Given the description of an element on the screen output the (x, y) to click on. 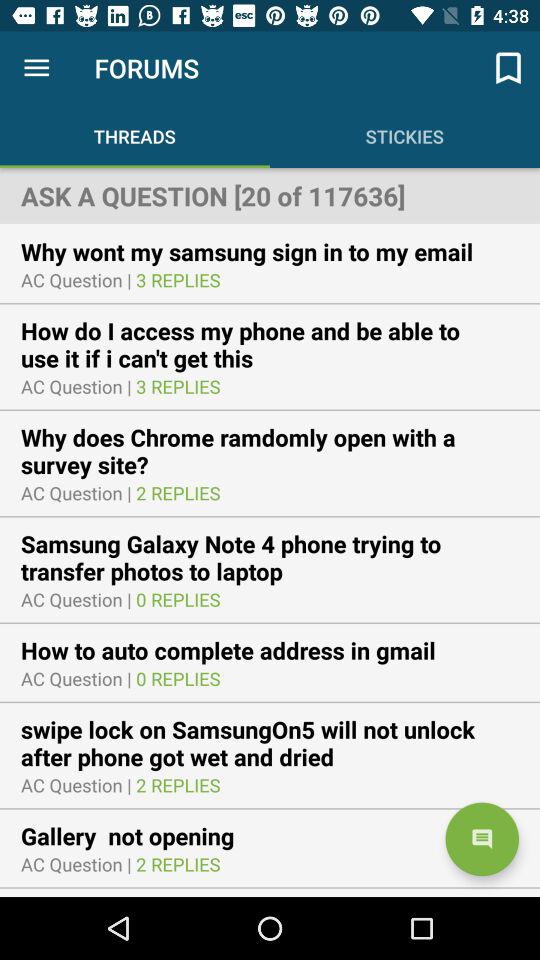
launch item next to the gallery  not opening icon (482, 839)
